Given the description of an element on the screen output the (x, y) to click on. 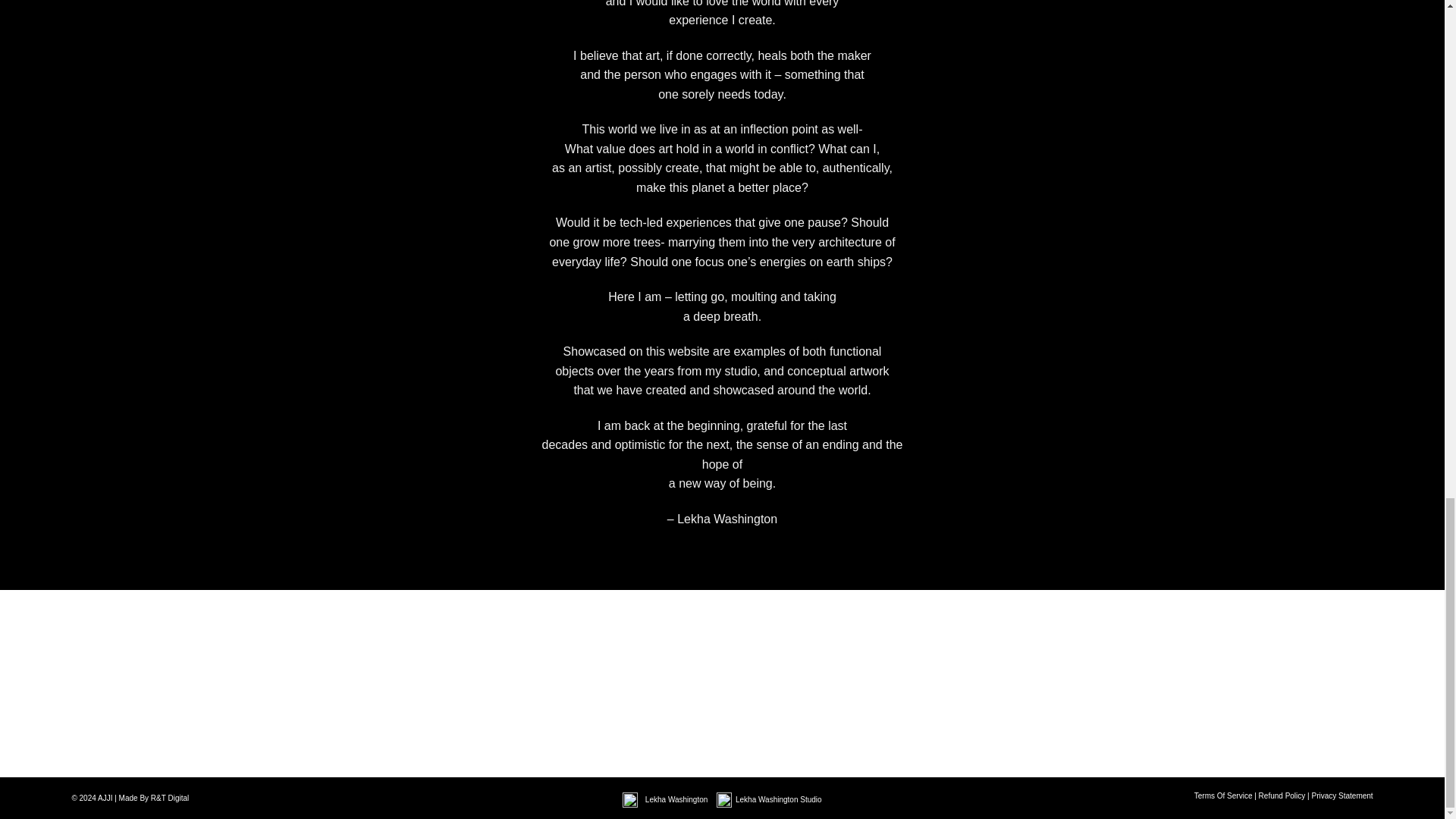
Privacy Statement (1342, 795)
Lekha Washington  (677, 799)
Lekha Washington Studio (778, 799)
Refund Policy (1282, 795)
Terms Of Service (1222, 795)
